Given the description of an element on the screen output the (x, y) to click on. 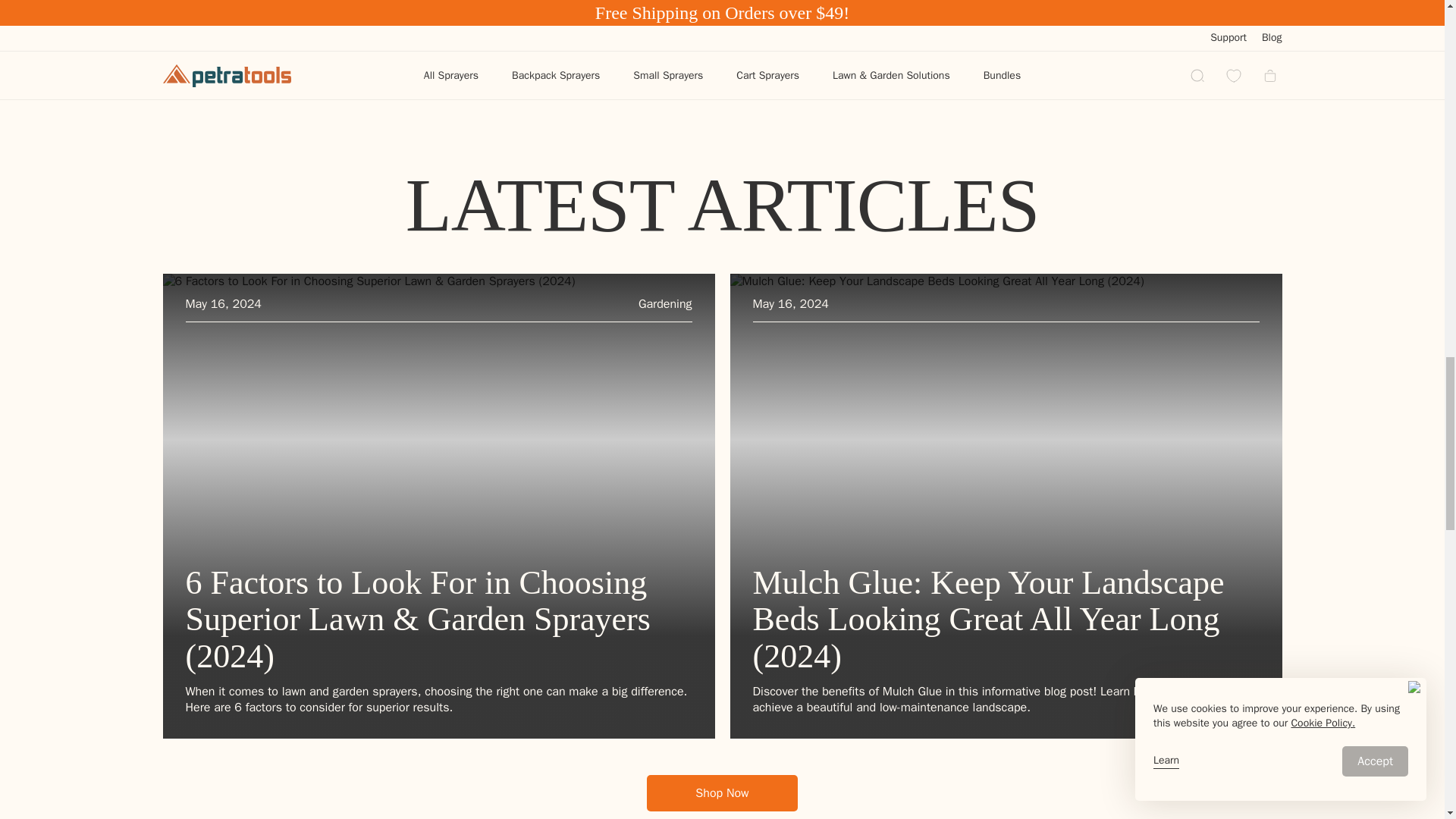
2 (713, 28)
4 (746, 28)
Shop Now (721, 792)
3 (729, 28)
Go to next page (770, 27)
